Given the description of an element on the screen output the (x, y) to click on. 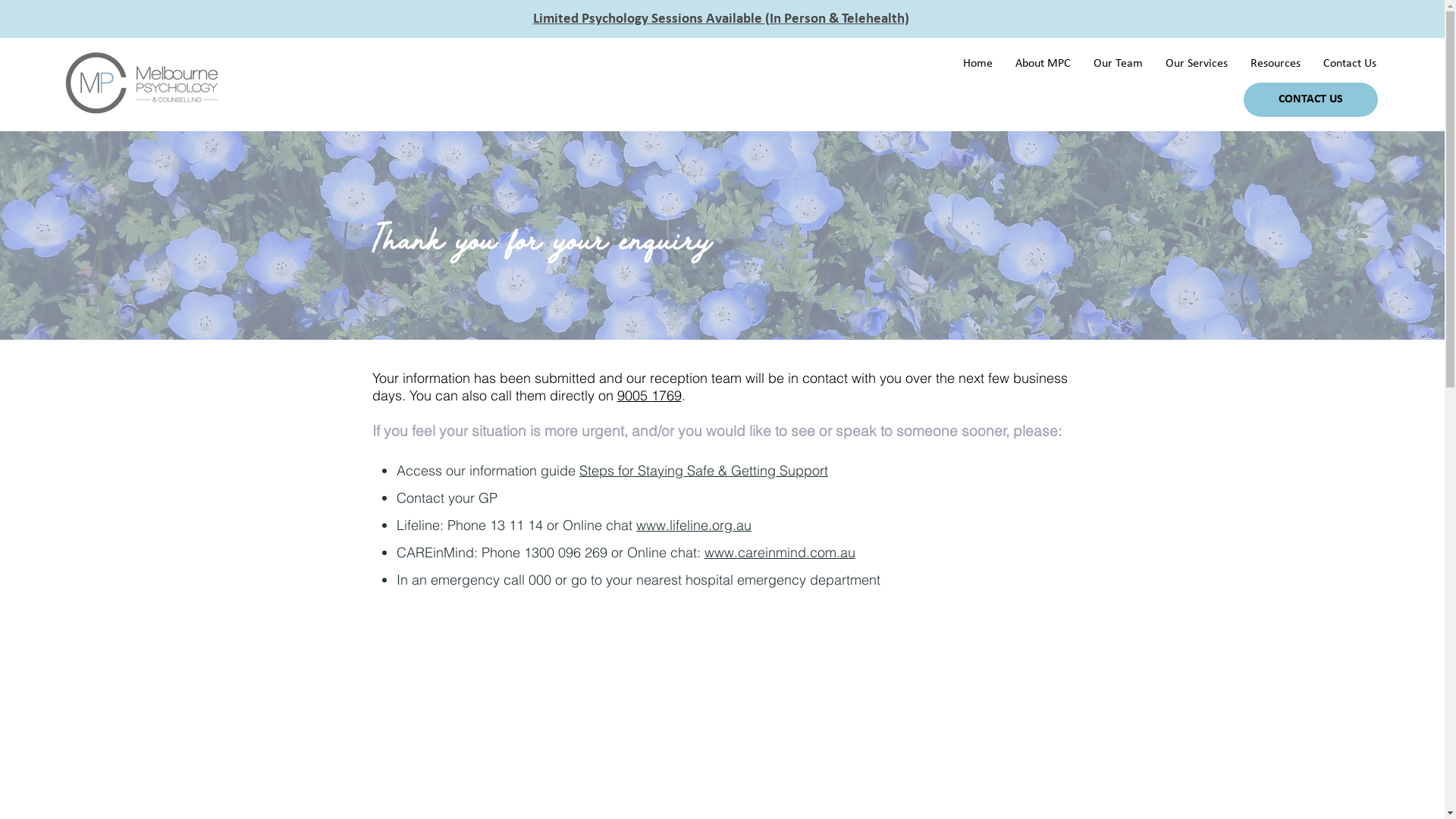
CONTACT US Element type: text (1310, 99)
Our Team Element type: text (1118, 63)
Steps for Staying Safe & Getting Support Element type: text (703, 470)
About MPC Element type: text (1043, 63)
www.lifeline.org.au Element type: text (693, 524)
Contact Us Element type: text (1349, 63)
www.careinmind.com.au Element type: text (779, 552)
9005 1769 Element type: text (649, 395)
Our Services Element type: text (1196, 63)
Resources Element type: text (1275, 63)
Home Element type: text (977, 63)
